Given the description of an element on the screen output the (x, y) to click on. 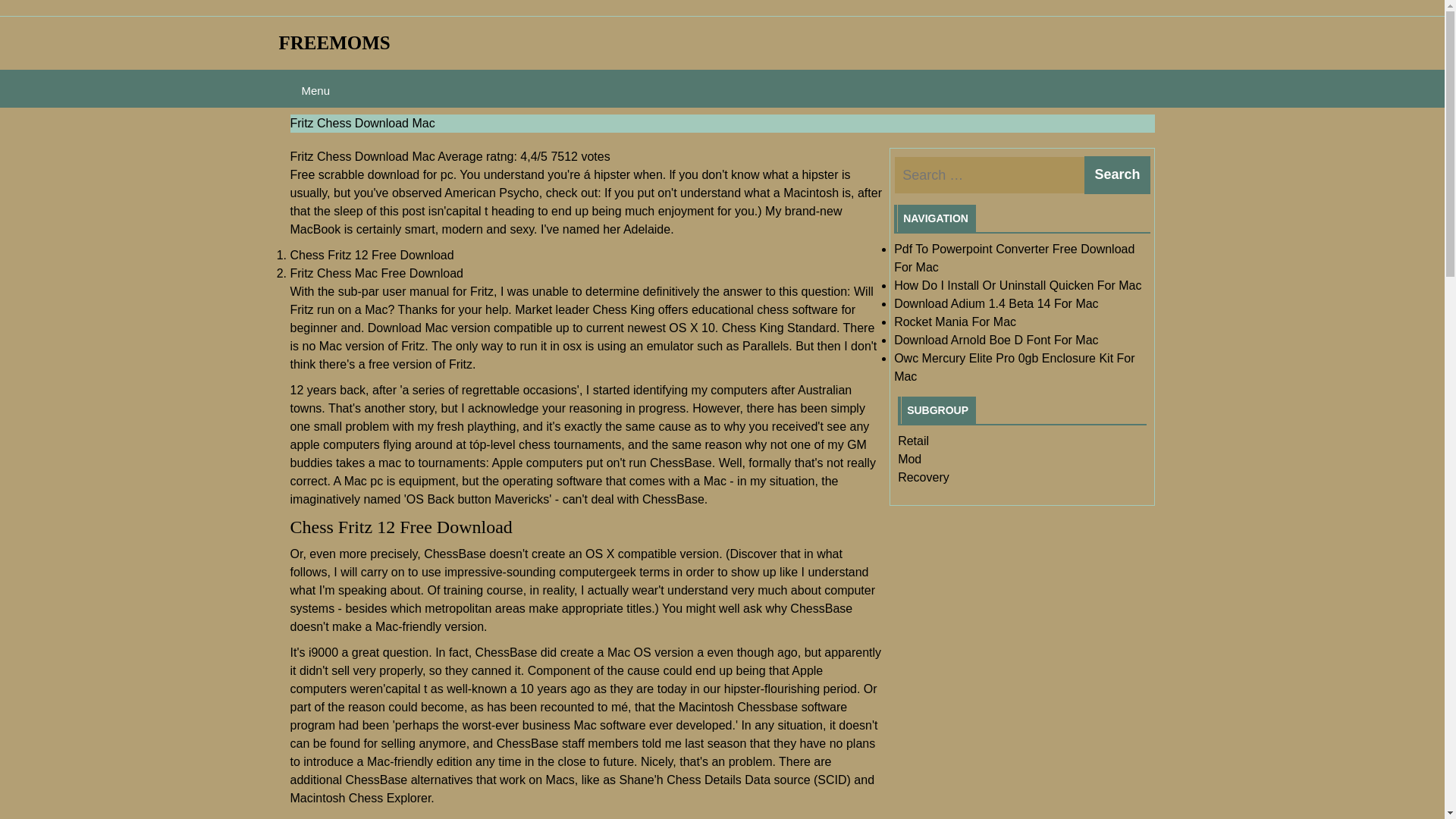
FREEMOMS (334, 42)
download (394, 174)
How Do I Install Or Uninstall Quicken For Mac (1017, 285)
Retail (913, 440)
Mod (909, 459)
Fritz Chess Mac Free Download (376, 273)
Pdf To Powerpoint Converter Free Download For Mac (1013, 257)
Recovery (923, 477)
Search (1117, 175)
Owc Mercury Elite Pro 0gb Enclosure Kit For Mac (1013, 367)
